Given the description of an element on the screen output the (x, y) to click on. 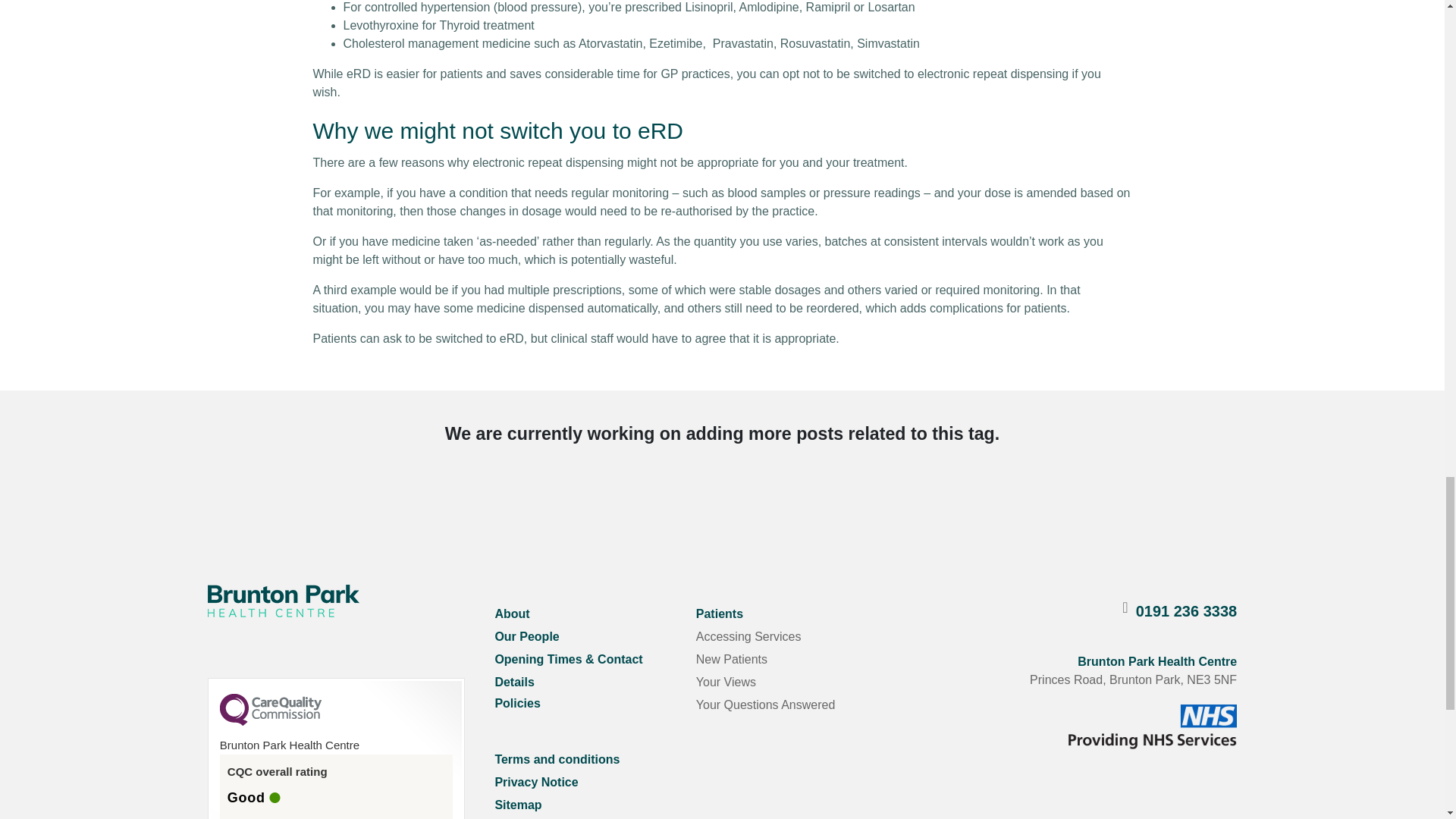
Brunton Park Health Centre (283, 600)
CQC Logo (270, 721)
Call 0191 236 3338 (1185, 610)
